Given the description of an element on the screen output the (x, y) to click on. 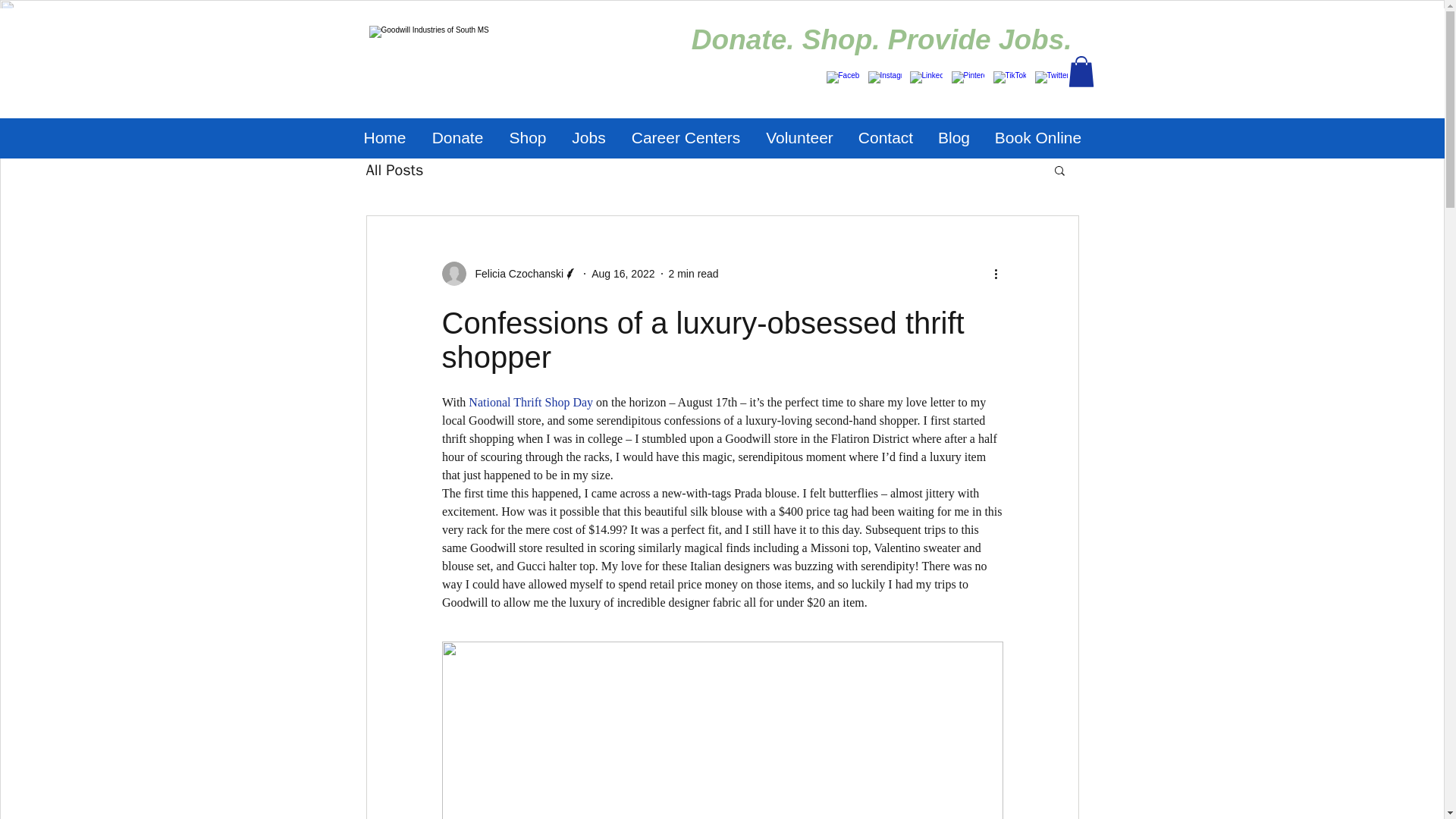
Aug 16, 2022 (622, 272)
Home (384, 137)
Click to Refresh page (489, 55)
All Posts (394, 168)
Book Online (1038, 137)
Donate (457, 137)
Contact (885, 137)
Felicia Czochanski (514, 273)
Blog (952, 137)
Career Centers (686, 137)
Jobs (588, 137)
Felicia Czochanski (509, 273)
2 min read (693, 272)
Shop (527, 137)
National Thrift Shop Day (530, 401)
